Given the description of an element on the screen output the (x, y) to click on. 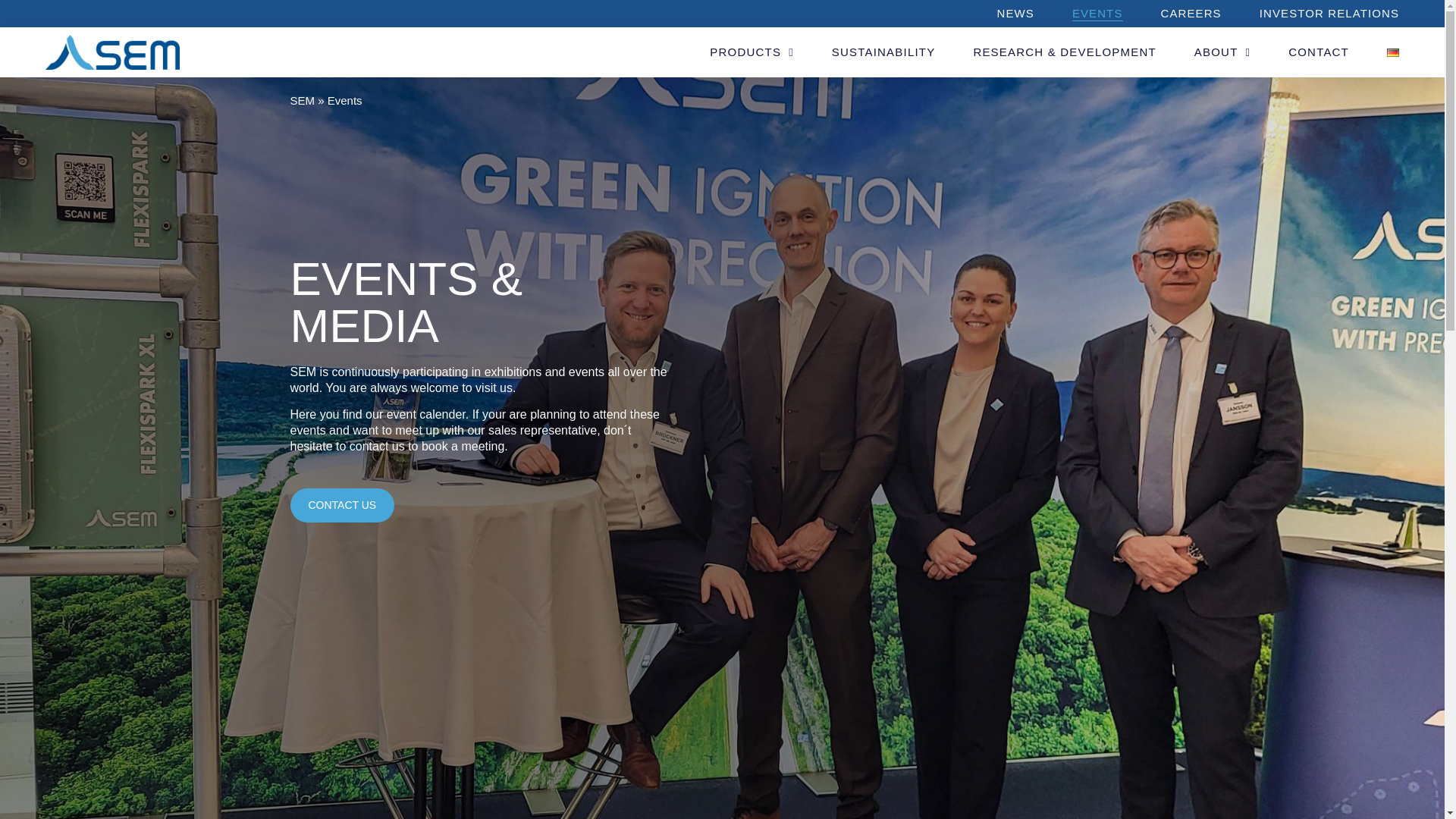
CONTACT (1318, 52)
NEWS (1014, 13)
SUSTAINABILITY (883, 52)
PRODUCTS (751, 52)
CAREERS (1190, 13)
INVESTOR RELATIONS (1329, 13)
ABOUT (1221, 52)
EVENTS (1096, 13)
